Given the description of an element on the screen output the (x, y) to click on. 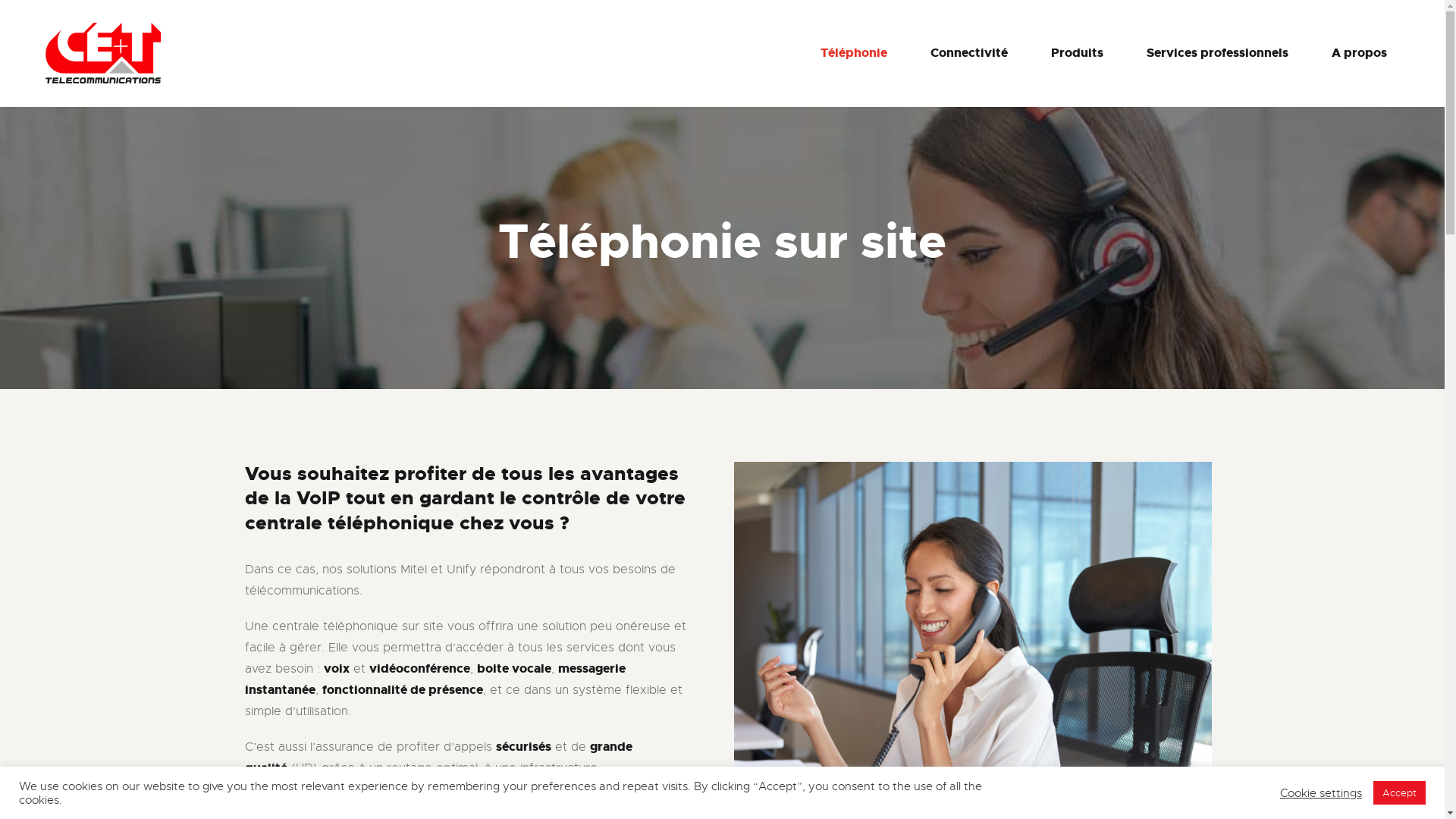
Services professionnels Element type: text (1217, 52)
Produits Element type: text (1076, 52)
Cookie settings Element type: text (1320, 792)
Accept Element type: text (1399, 792)
A propos Element type: text (1359, 52)
